Given the description of an element on the screen output the (x, y) to click on. 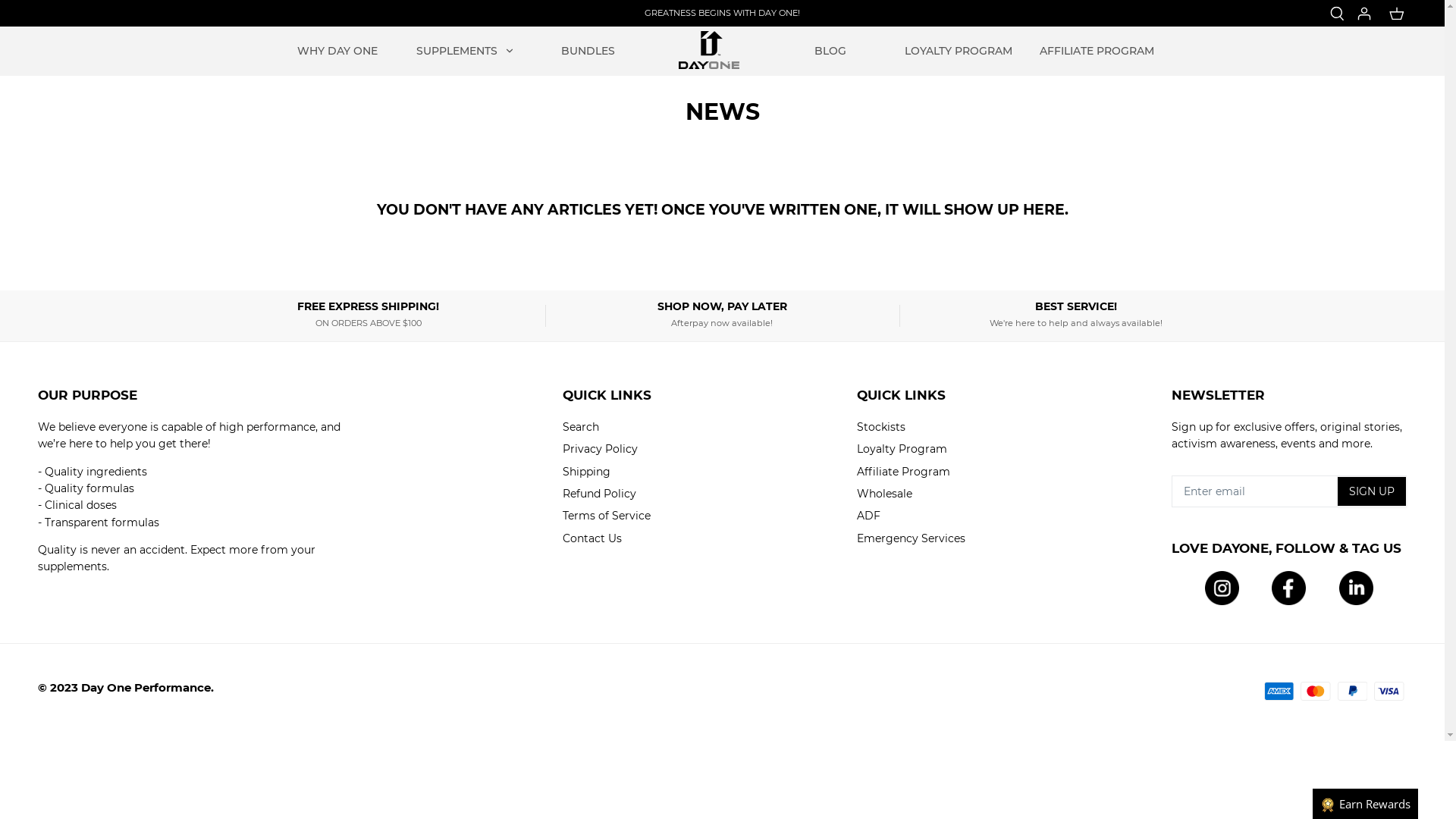
Terms of Service Element type: text (606, 515)
LOYALTY PROGRAM Element type: text (958, 50)
BEST SERVICE!
We're here to help and always available! Element type: text (1076, 314)
Loyalty Program Element type: text (901, 448)
Contact Us Element type: text (591, 538)
Wholesale Element type: text (884, 493)
ADF Element type: text (868, 515)
TOGGLE MENU Element type: text (509, 51)
Day One Performance Element type: text (145, 687)
Privacy Policy Element type: text (599, 448)
WHY DAY ONE Element type: text (337, 50)
Shipping Element type: text (586, 470)
BLOG Element type: text (829, 50)
Affiliate Program Element type: text (903, 470)
Emergency Services Element type: text (910, 538)
BUNDLES Element type: text (587, 50)
Day One Performance Element type: hover (708, 50)
Refund Policy Element type: text (599, 493)
AFFILIATE PROGRAM Element type: text (1096, 50)
SIGN UP Element type: text (1371, 491)
Stockists Element type: text (880, 426)
Search Element type: text (580, 426)
SUPPLEMENTS Element type: text (456, 50)
